Given the description of an element on the screen output the (x, y) to click on. 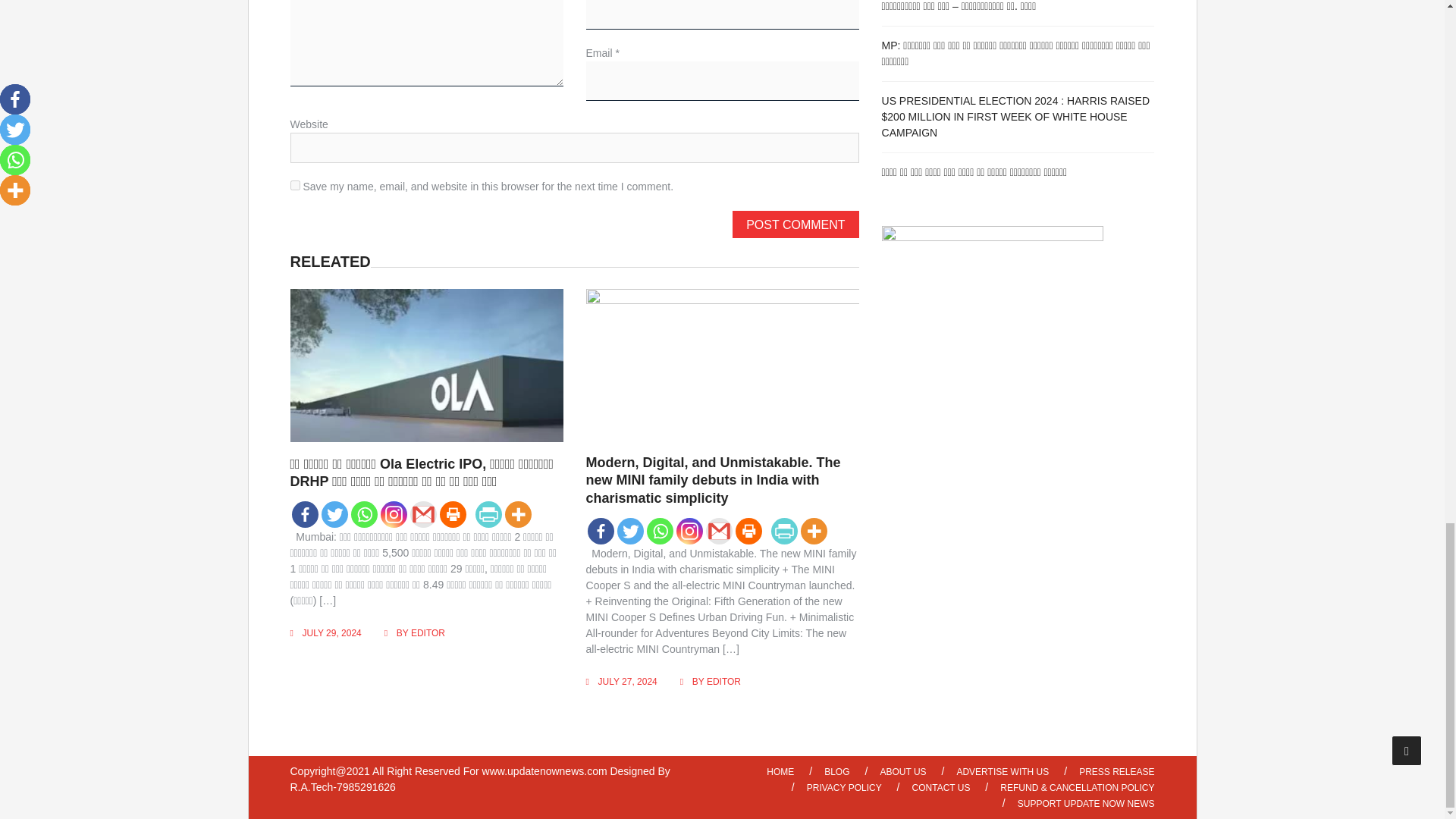
yes (294, 185)
Facebook (304, 514)
Post Comment (795, 224)
